Given the description of an element on the screen output the (x, y) to click on. 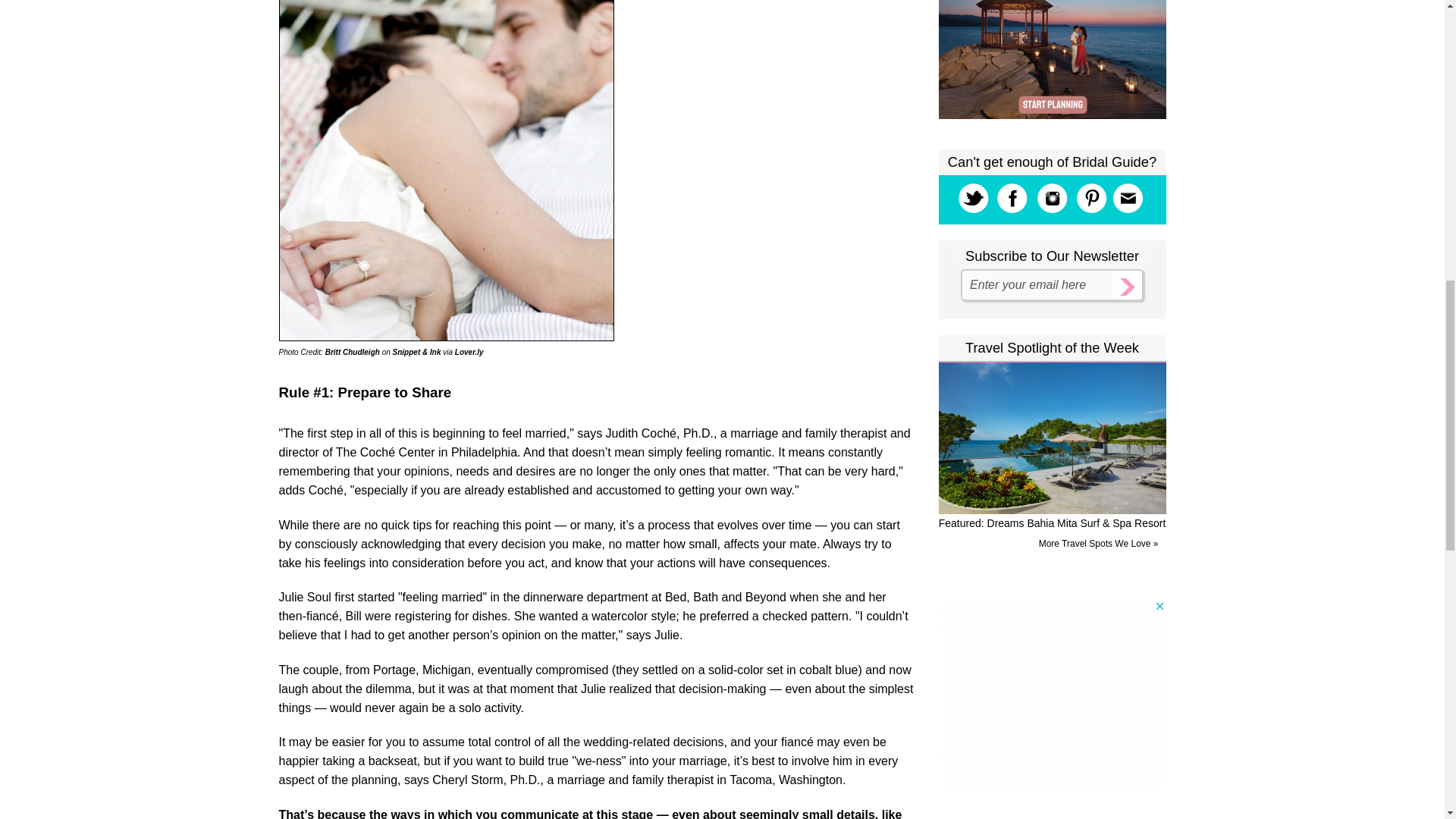
Enter your email here (1039, 285)
